Given the description of an element on the screen output the (x, y) to click on. 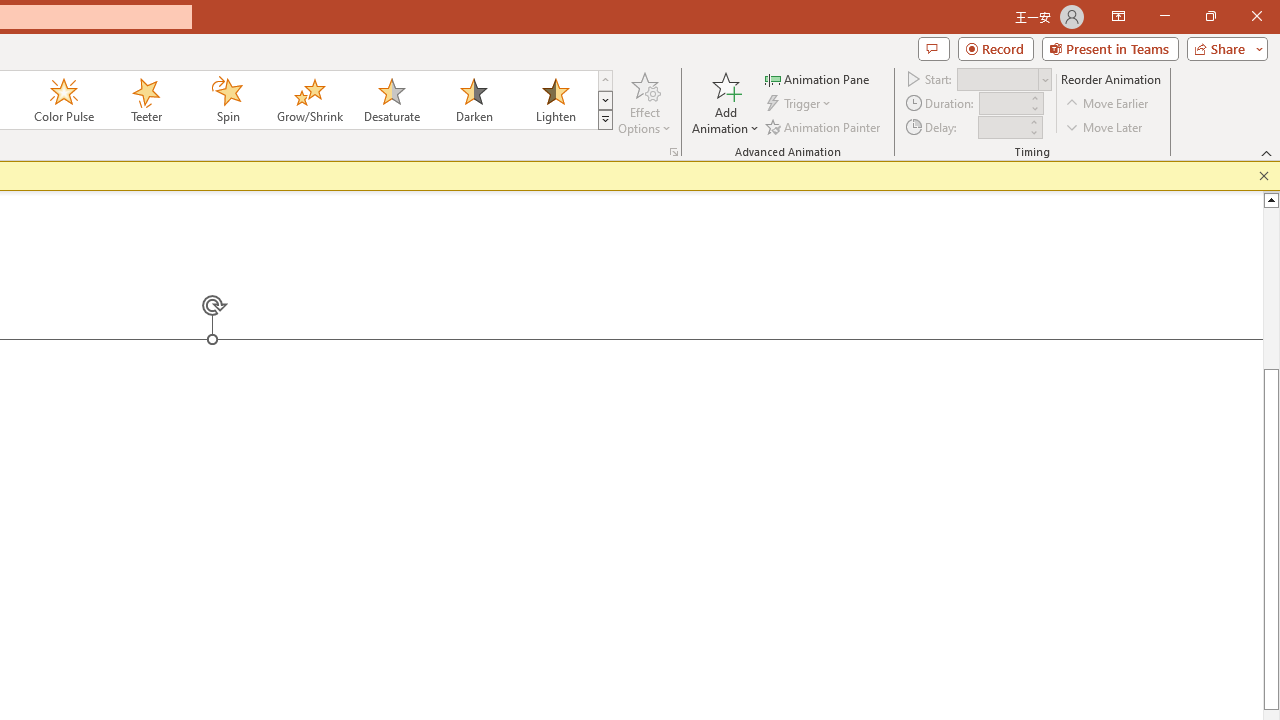
Move Later (1105, 126)
Less (1033, 132)
Add Animation (725, 102)
